Given the description of an element on the screen output the (x, y) to click on. 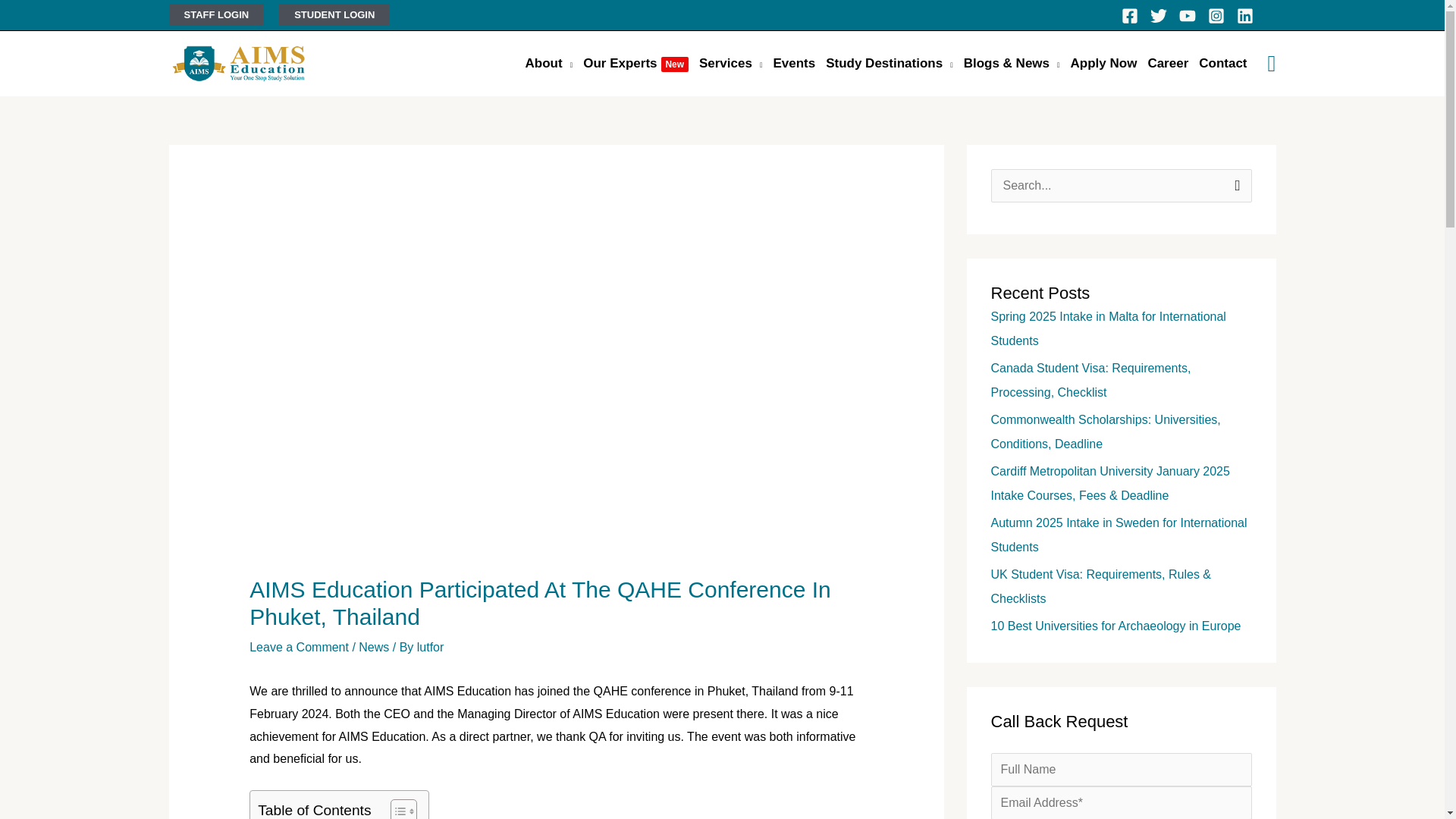
About (548, 63)
Search (1234, 184)
Our ExpertsNew (636, 63)
Events (794, 63)
Services (730, 63)
Study Destinations (889, 63)
Search (1234, 184)
View all posts by lutfor (430, 646)
STUDENT LOGIN (334, 14)
STAFF LOGIN (215, 14)
